Given the description of an element on the screen output the (x, y) to click on. 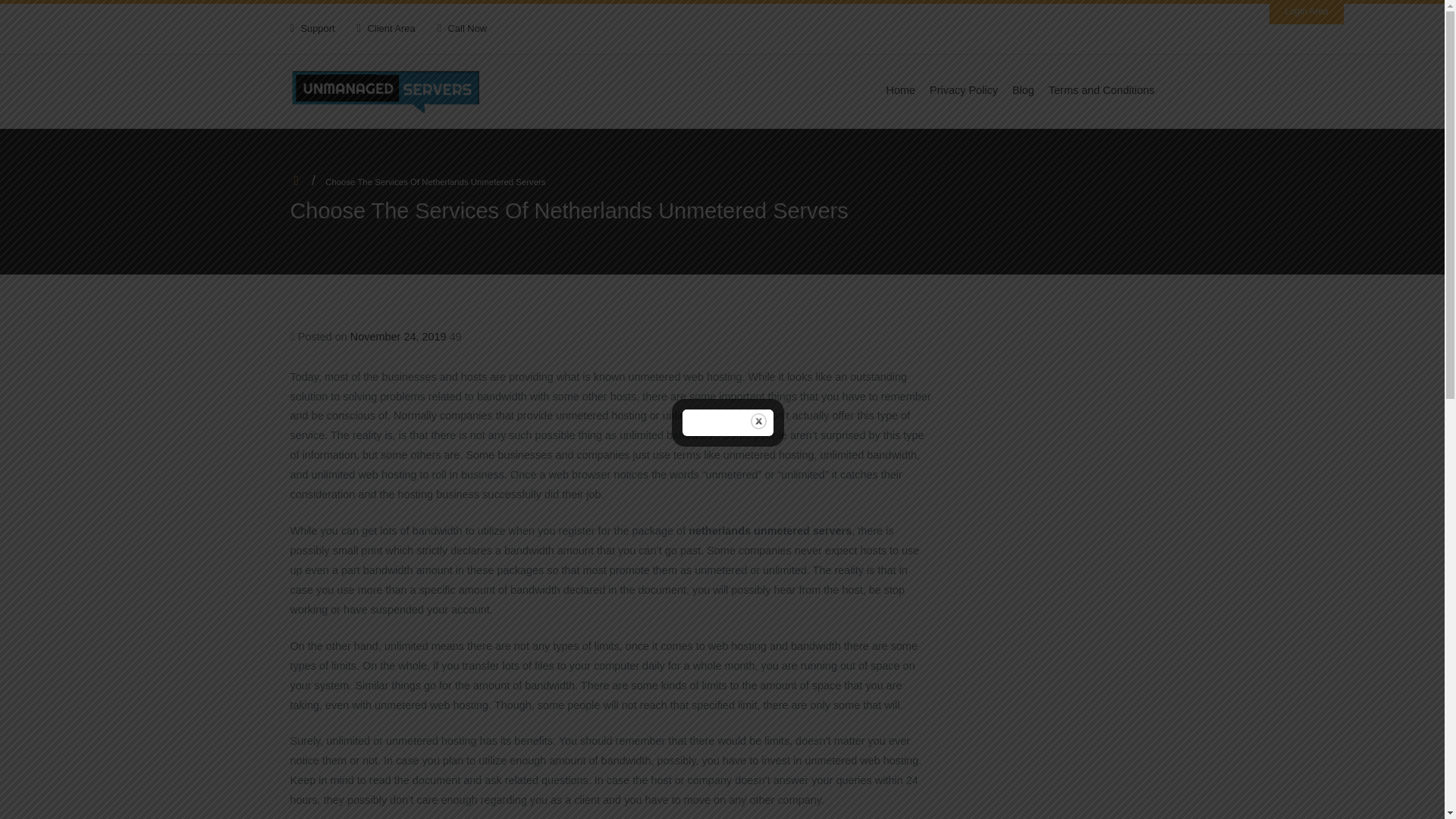
Home (900, 90)
Privacy Policy (963, 90)
Blog (1022, 90)
Call Now (467, 28)
Support (316, 28)
Close (759, 421)
November 24, 2019 (398, 336)
Client Area (390, 28)
Terms and Conditions (1101, 90)
